Given the description of an element on the screen output the (x, y) to click on. 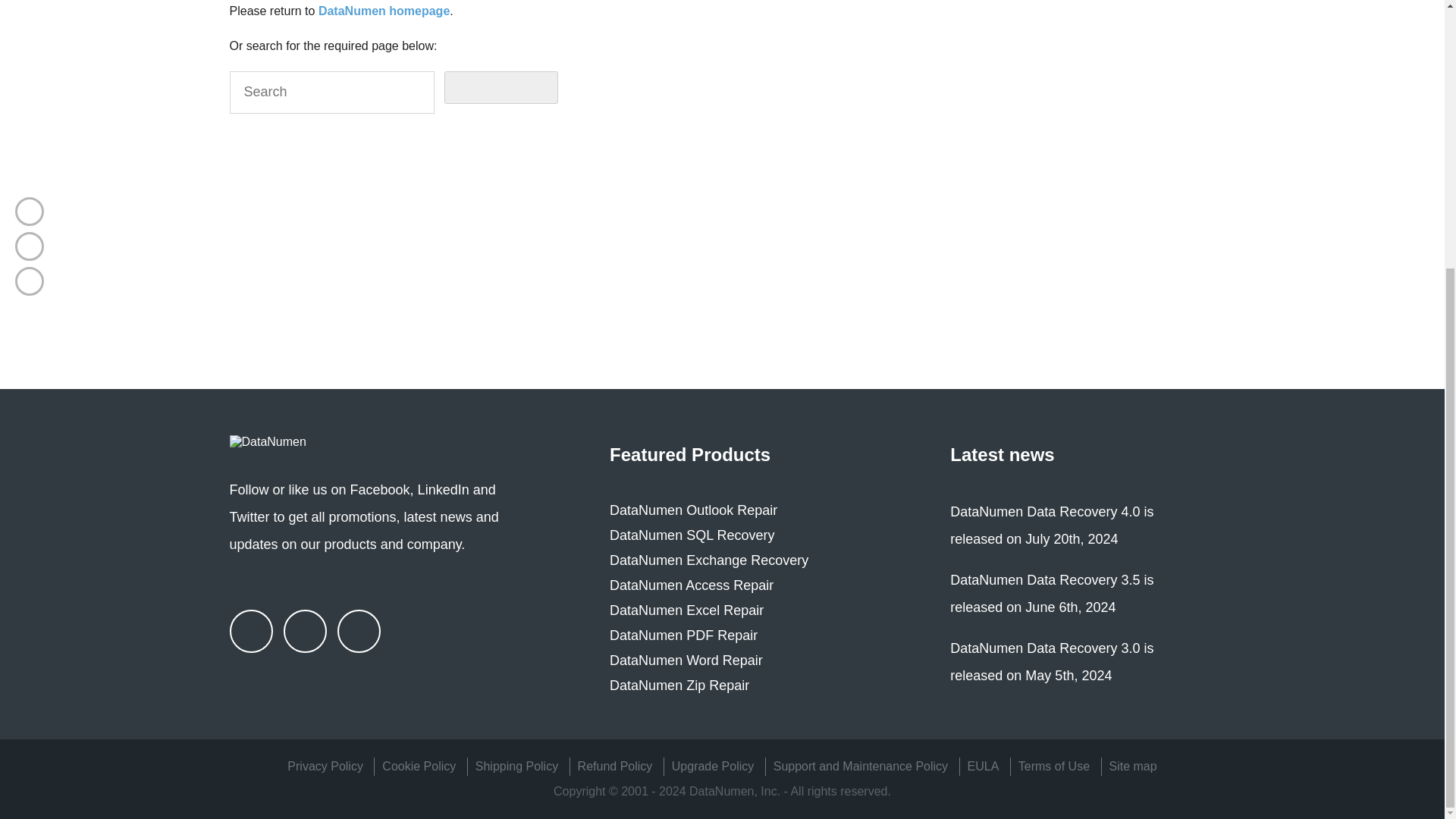
Search for: (330, 92)
